Given the description of an element on the screen output the (x, y) to click on. 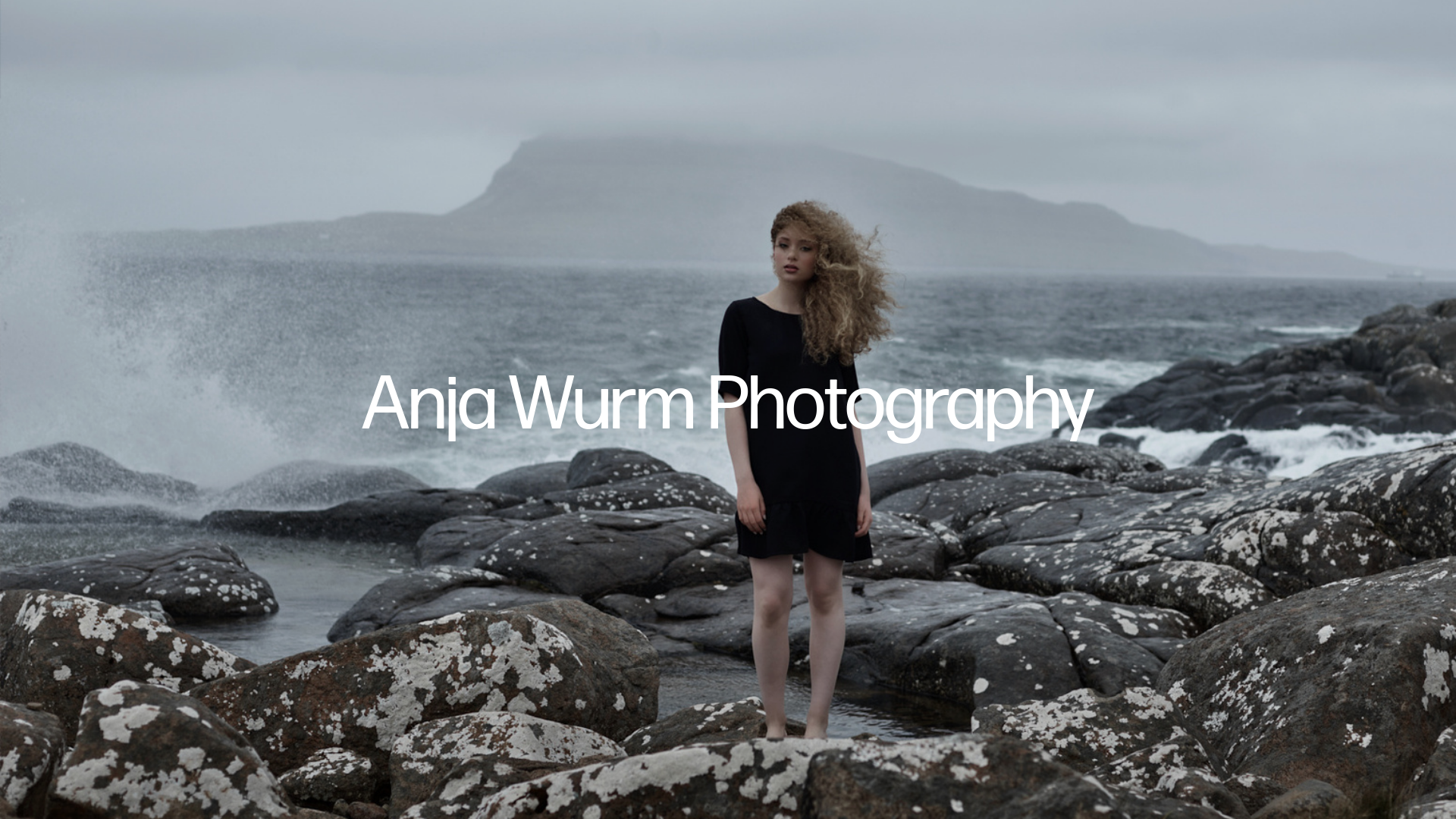
Anja Wurm Photography Element type: text (728, 406)
